Given the description of an element on the screen output the (x, y) to click on. 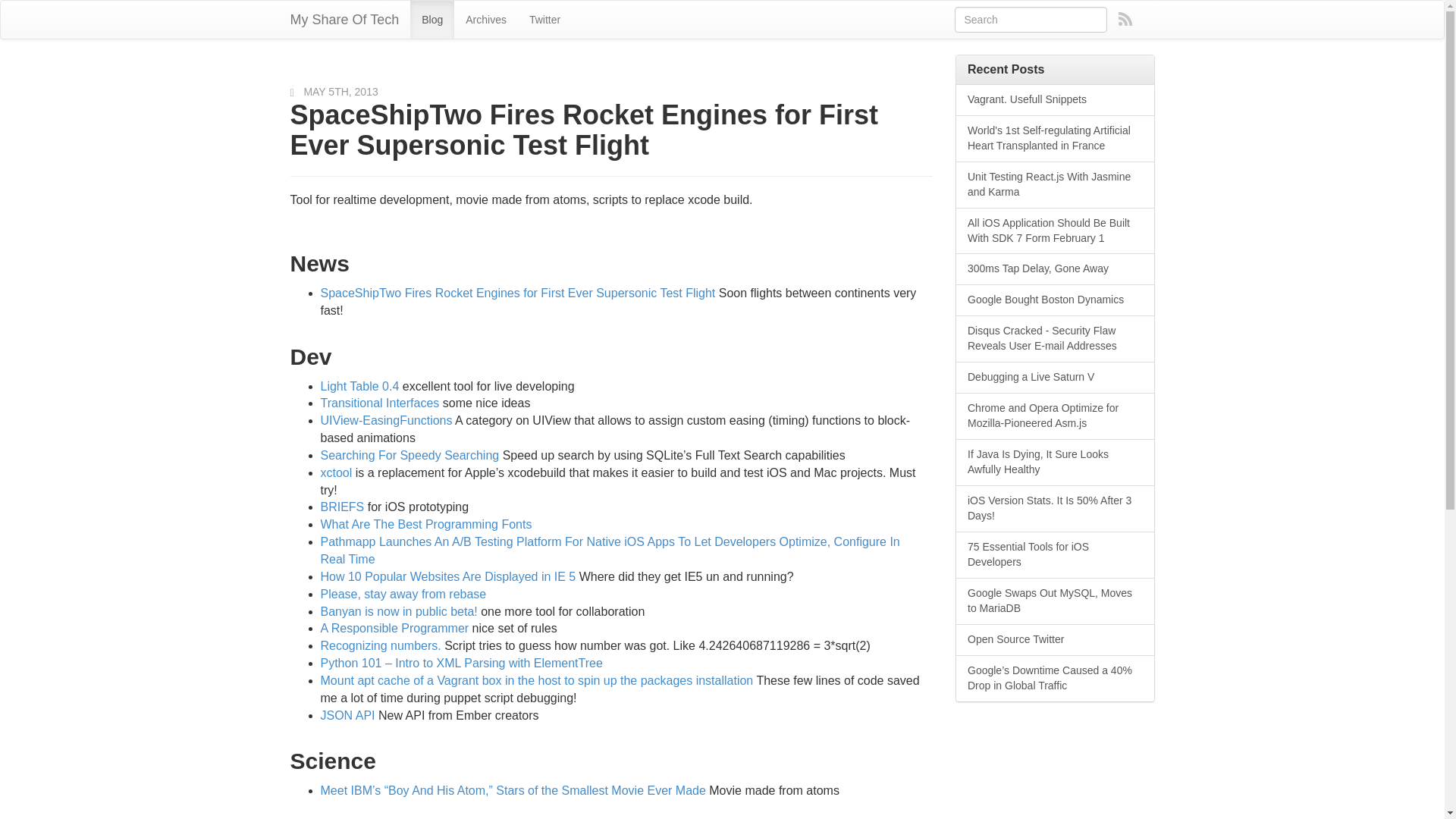
Twitter (545, 19)
subscribe via RSS (1124, 18)
Archives (486, 19)
Google Bought Boston Dynamics (1055, 300)
Banyan is now in public beta! (398, 611)
300ms Tap Delay, Gone Away (1055, 269)
How 10 Popular Websites Are Displayed in IE 5 (447, 576)
Recognizing numbers. (380, 645)
UIView-EasingFunctions (385, 420)
A Responsible Programmer (394, 627)
